Given the description of an element on the screen output the (x, y) to click on. 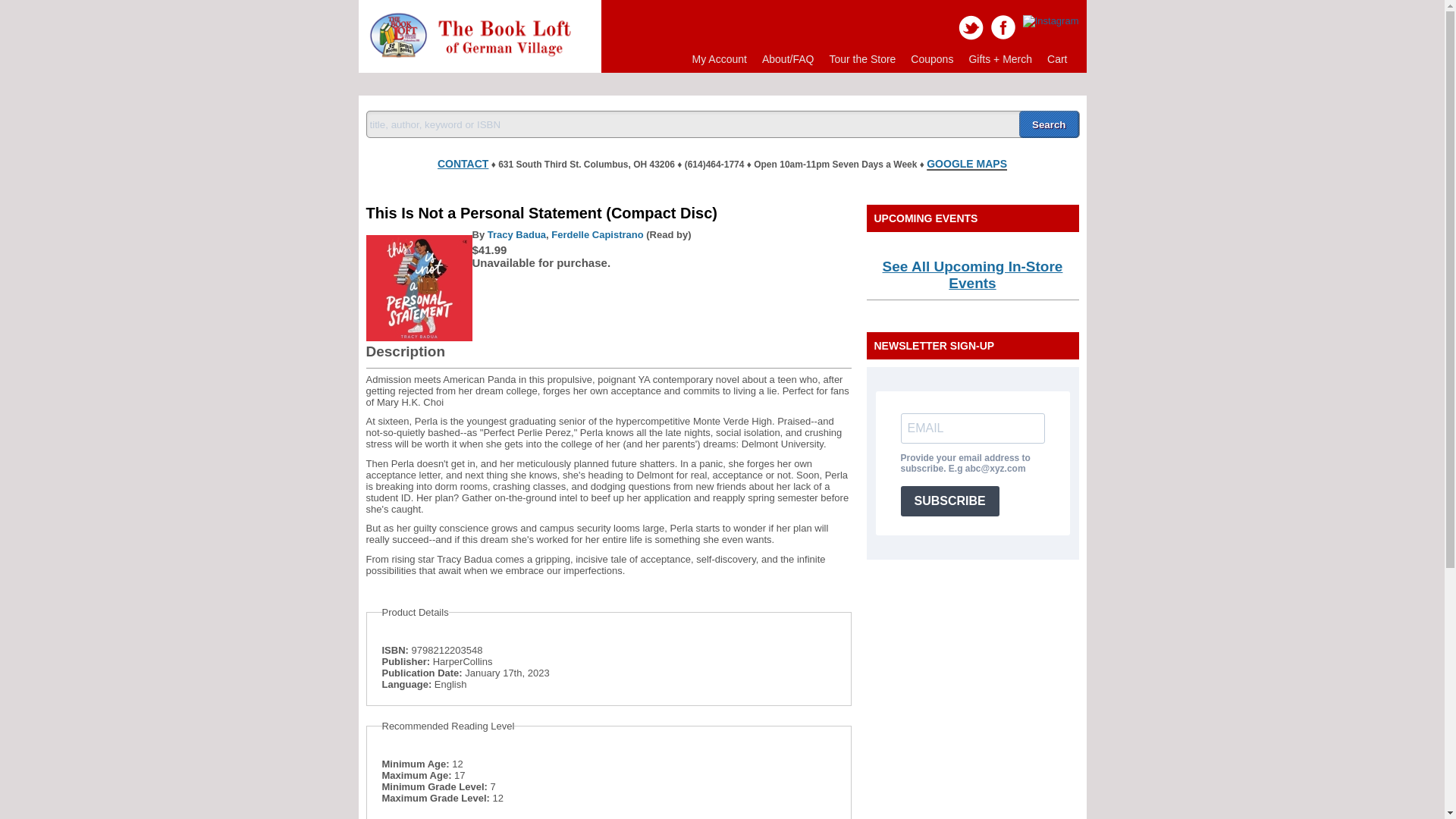
CONTACT (462, 161)
Enter the terms you wish to search for. (721, 124)
Ferdelle Capistrano (597, 234)
Tracy Badua (516, 234)
My Account (719, 58)
Search (1048, 124)
GOOGLE MAPS (966, 163)
See All Upcoming In-Store Events (972, 274)
Coupons (931, 58)
